Given the description of an element on the screen output the (x, y) to click on. 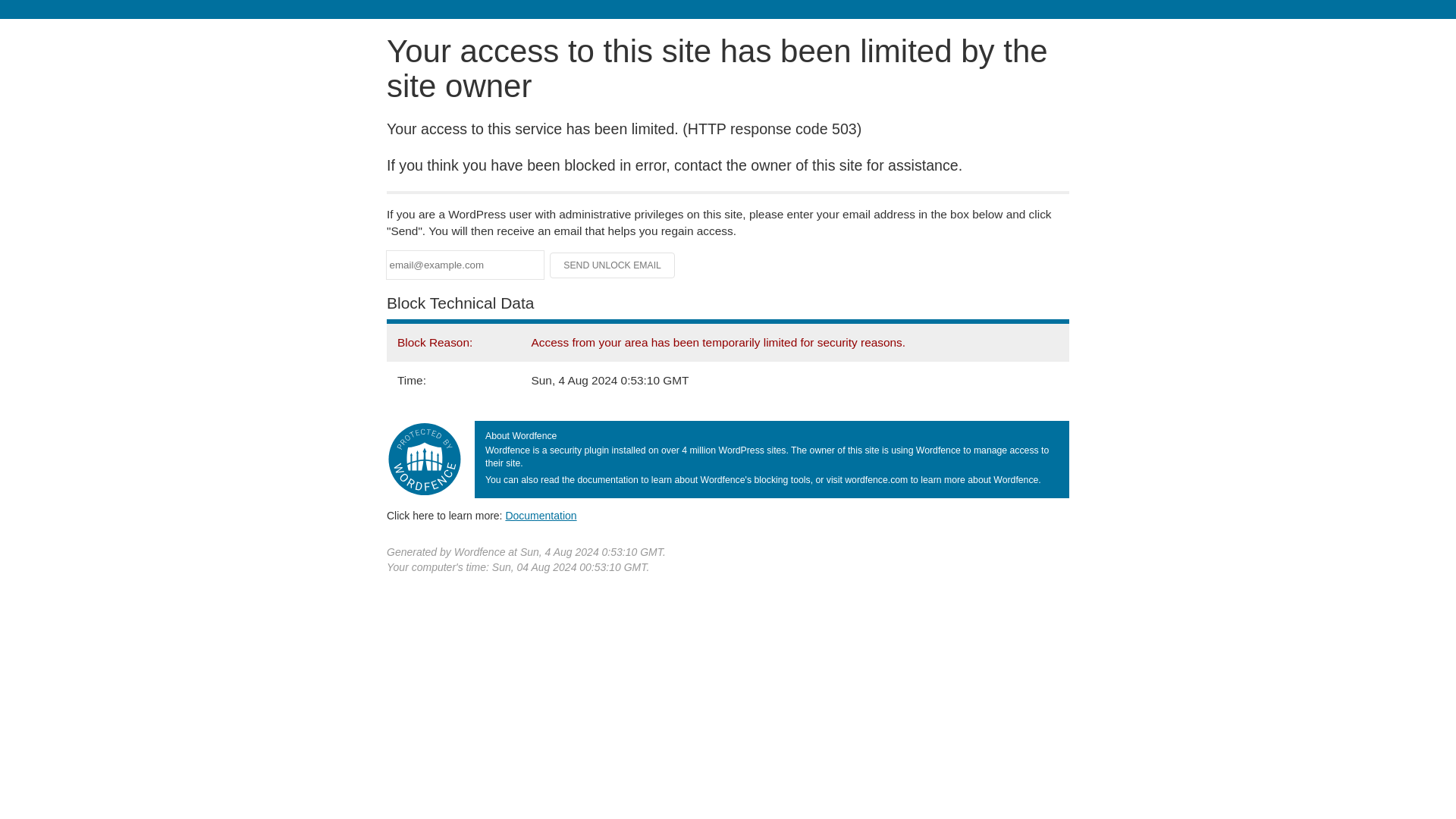
Documentation (540, 515)
Send Unlock Email (612, 265)
Send Unlock Email (612, 265)
